Given the description of an element on the screen output the (x, y) to click on. 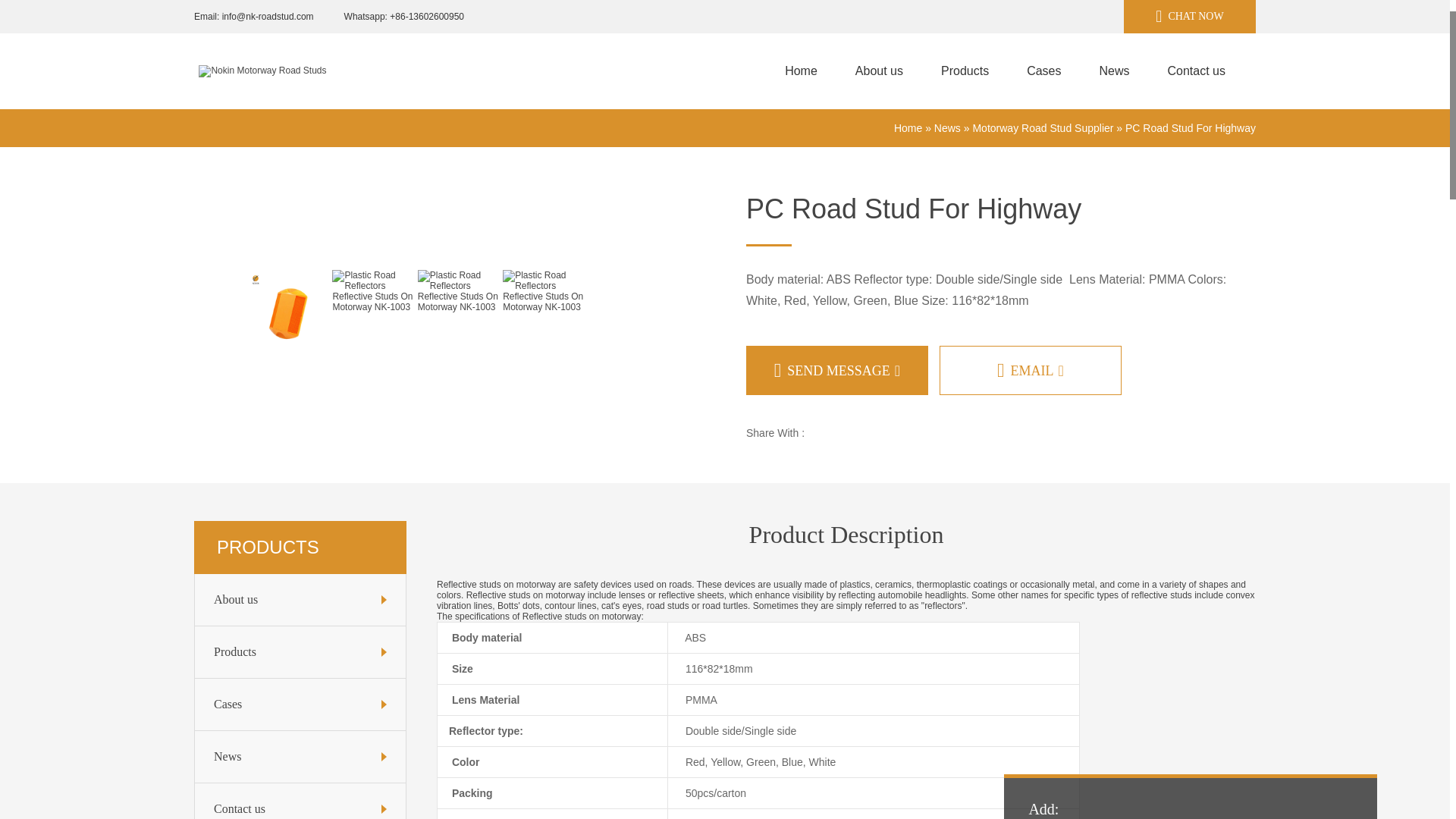
Contact us (1196, 70)
About us (878, 70)
China solar road stud factory (300, 652)
Contact us (300, 800)
Cases (300, 704)
News (300, 756)
About us (878, 70)
About us (300, 599)
Motorway Road Stud Supplier (1042, 128)
Products (300, 652)
News (300, 756)
About us (300, 599)
Nokin Motorway Road Studs (800, 70)
motorway road stud manufacturer (964, 70)
EMAIL (1030, 369)
